Given the description of an element on the screen output the (x, y) to click on. 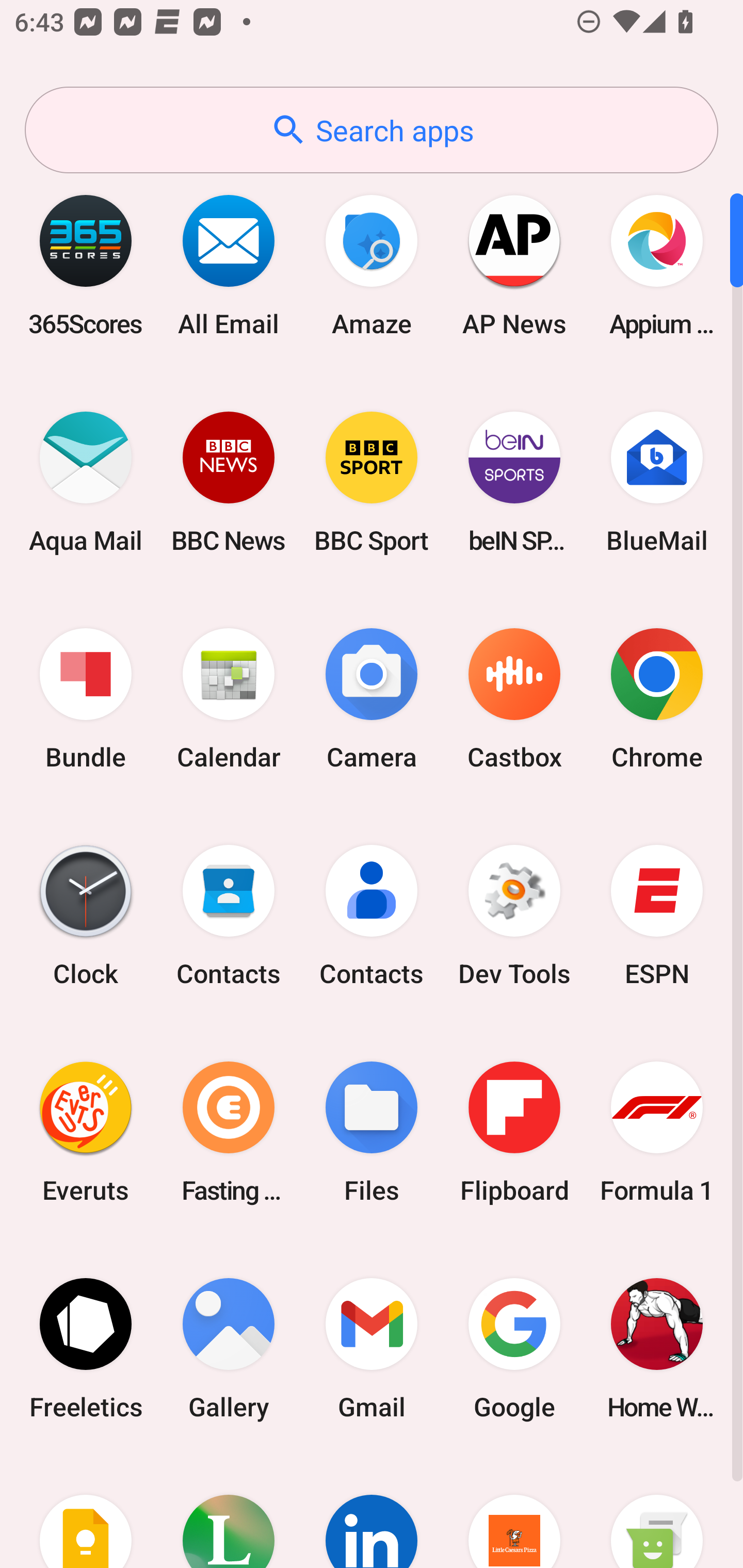
  Search apps (371, 130)
365Scores (85, 264)
All Email (228, 264)
Amaze (371, 264)
AP News (514, 264)
Appium Settings (656, 264)
Aqua Mail (85, 482)
BBC News (228, 482)
BBC Sport (371, 482)
beIN SPORTS (514, 482)
BlueMail (656, 482)
Bundle (85, 699)
Calendar (228, 699)
Camera (371, 699)
Castbox (514, 699)
Chrome (656, 699)
Clock (85, 915)
Contacts (228, 915)
Contacts (371, 915)
Dev Tools (514, 915)
ESPN (656, 915)
Everuts (85, 1131)
Fasting Coach (228, 1131)
Files (371, 1131)
Flipboard (514, 1131)
Formula 1 (656, 1131)
Freeletics (85, 1348)
Gallery (228, 1348)
Gmail (371, 1348)
Google (514, 1348)
Home Workout (656, 1348)
